Given the description of an element on the screen output the (x, y) to click on. 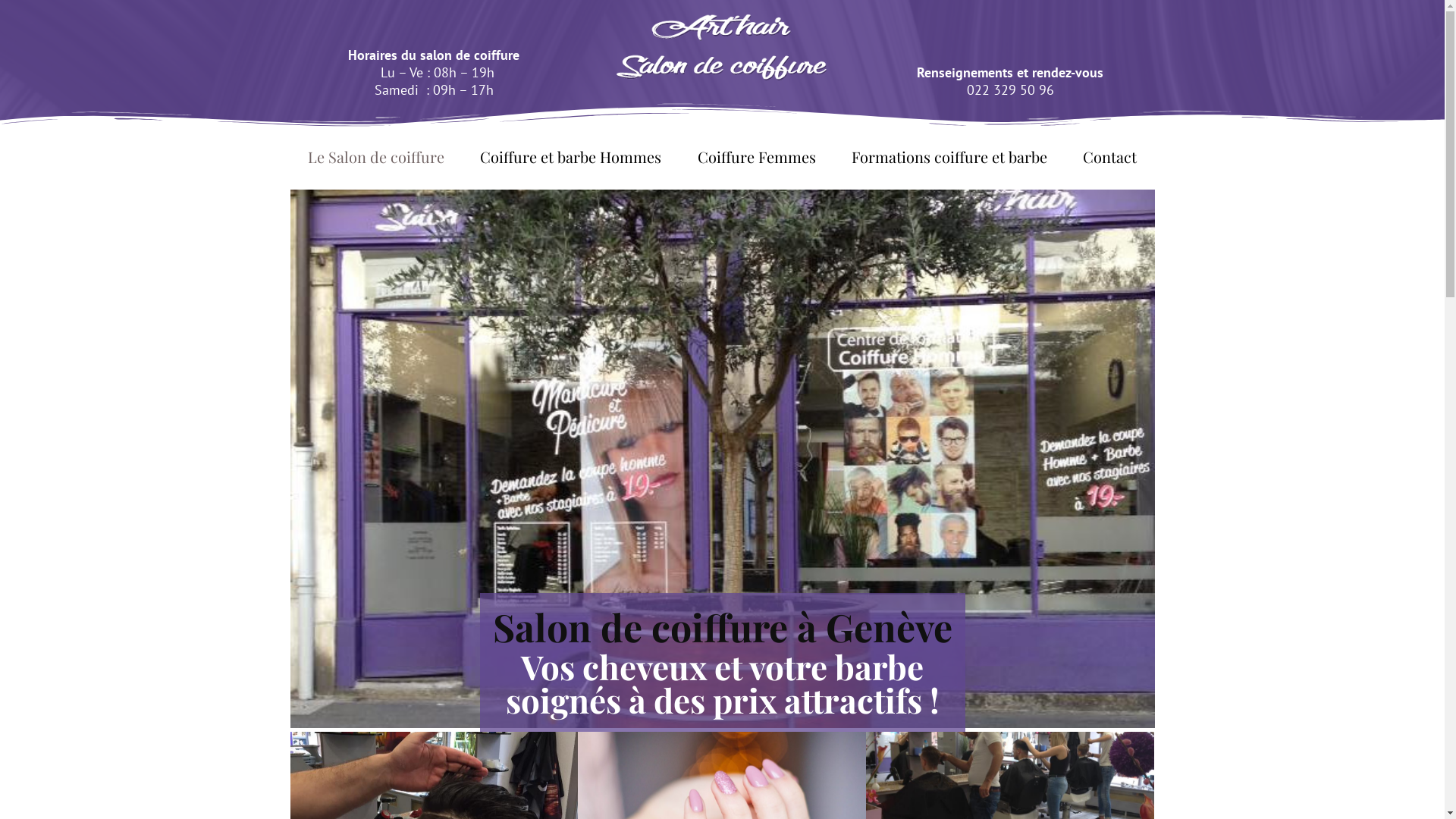
Contact Element type: text (1109, 156)
Formations coiffure et barbe Element type: text (948, 156)
Le Salon de coiffure Element type: text (375, 156)
Coiffure et barbe Hommes Element type: text (570, 156)
Coiffure Femmes Element type: text (756, 156)
